Given the description of an element on the screen output the (x, y) to click on. 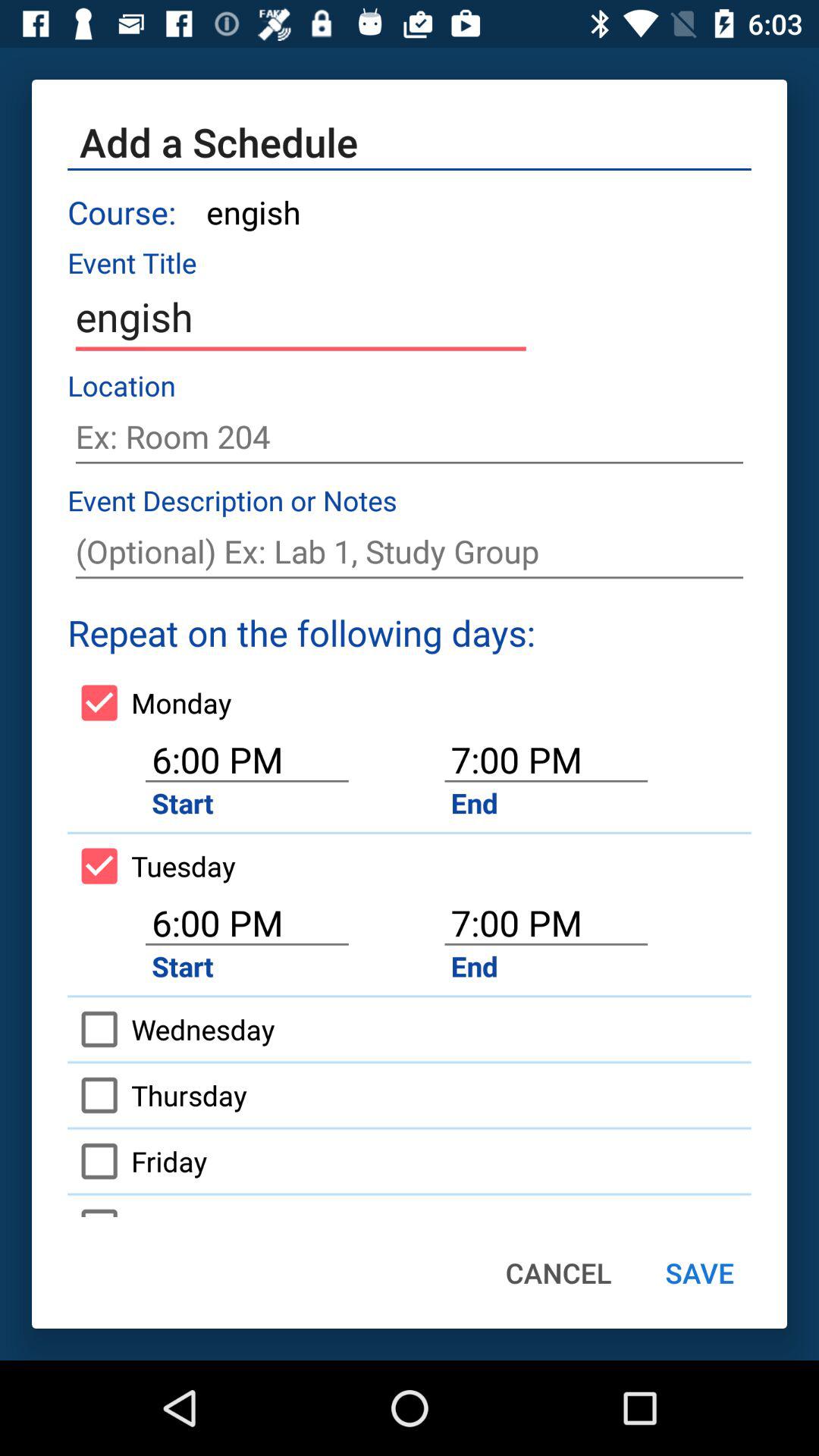
launch friday (137, 1161)
